Given the description of an element on the screen output the (x, y) to click on. 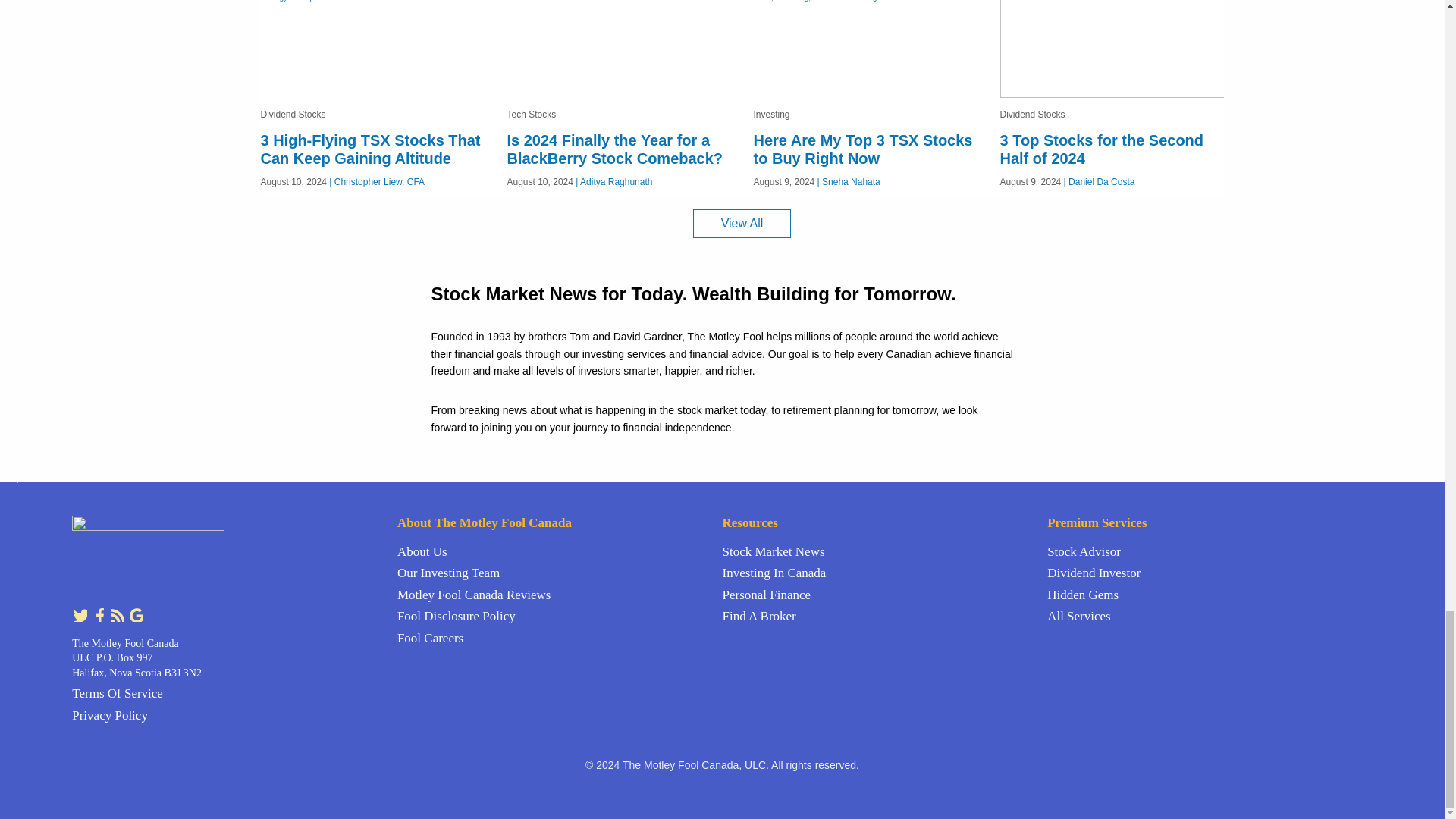
Follow us on Google News (135, 613)
Follow us on Twitter (80, 613)
Like us on Facebook (99, 613)
Subscribe to our feed (118, 613)
